Given the description of an element on the screen output the (x, y) to click on. 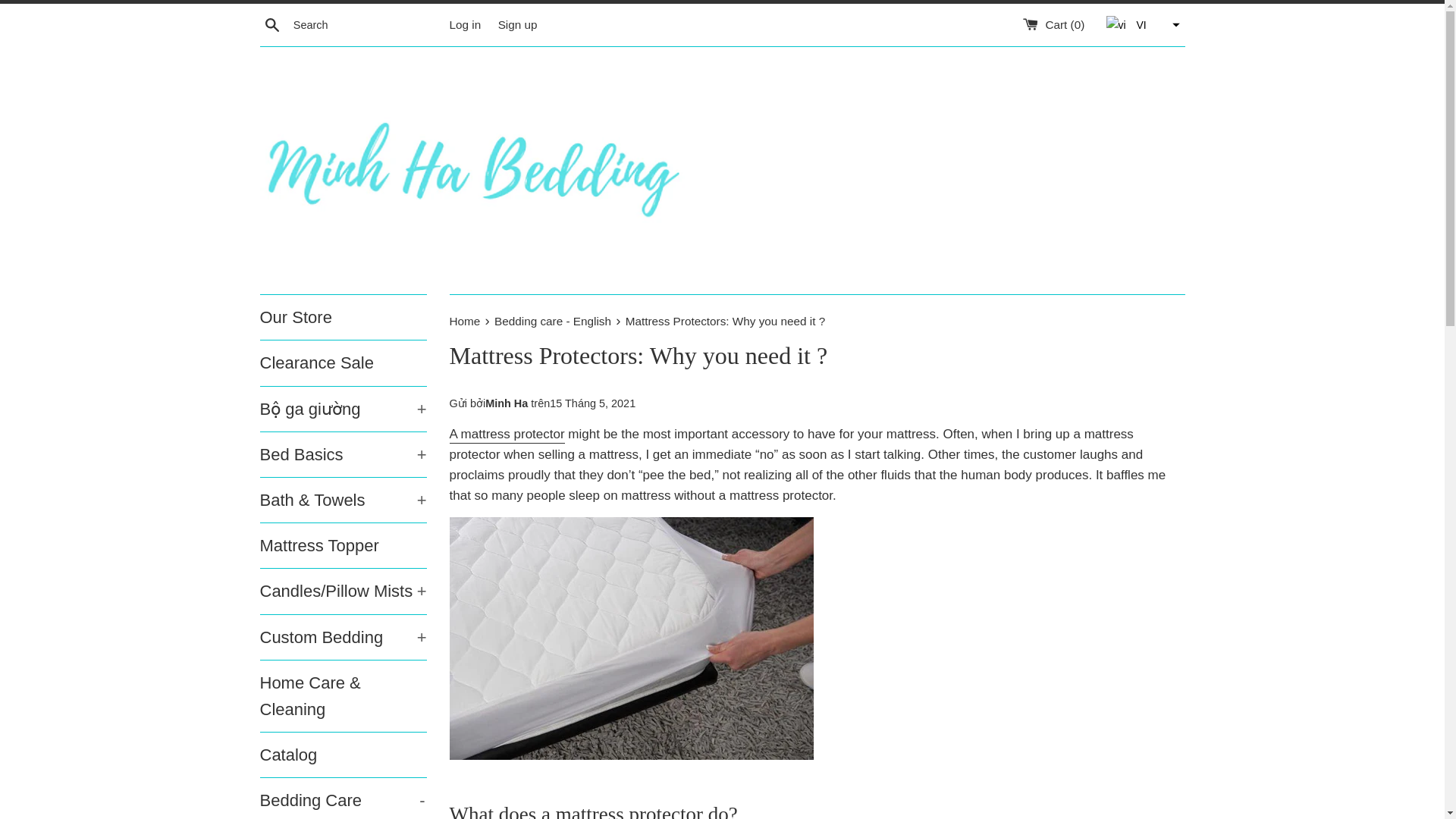
Sign up (517, 24)
Search (271, 24)
Log in (464, 24)
Clearance Sale (342, 362)
Our Store (342, 316)
Back to the frontpage (465, 320)
Catalog (342, 798)
Mattress Topper (342, 754)
